Given the description of an element on the screen output the (x, y) to click on. 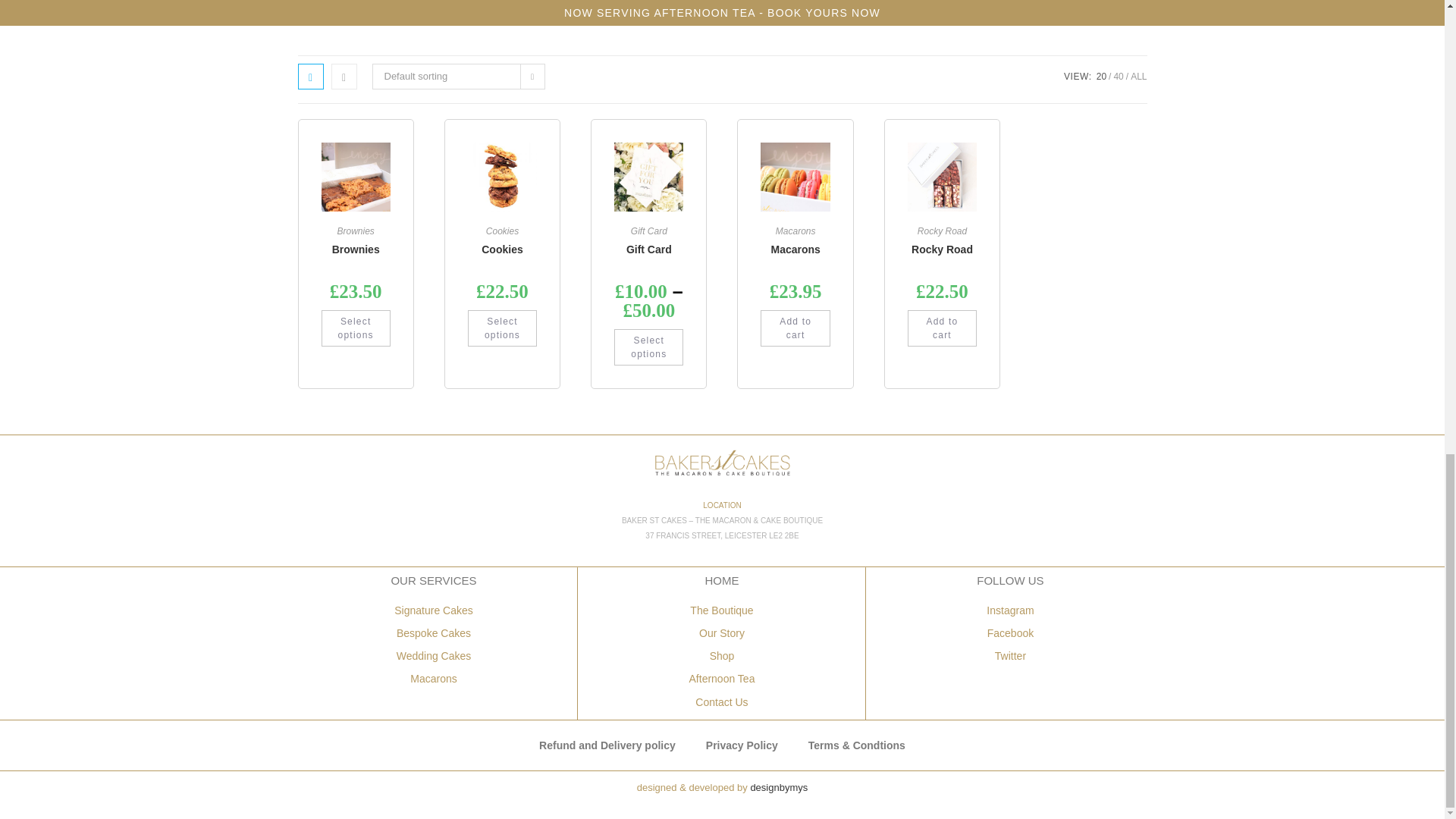
Brownies (355, 249)
Cookies (501, 249)
Select options (648, 347)
Gift Card (648, 249)
Cookies (502, 231)
Macarons (794, 249)
List view (343, 76)
Select options (355, 328)
ALL (1139, 76)
20 (1101, 76)
Add to cart (794, 328)
Grid view (310, 76)
Select options (502, 328)
Brownies (355, 231)
Macarons (795, 231)
